Given the description of an element on the screen output the (x, y) to click on. 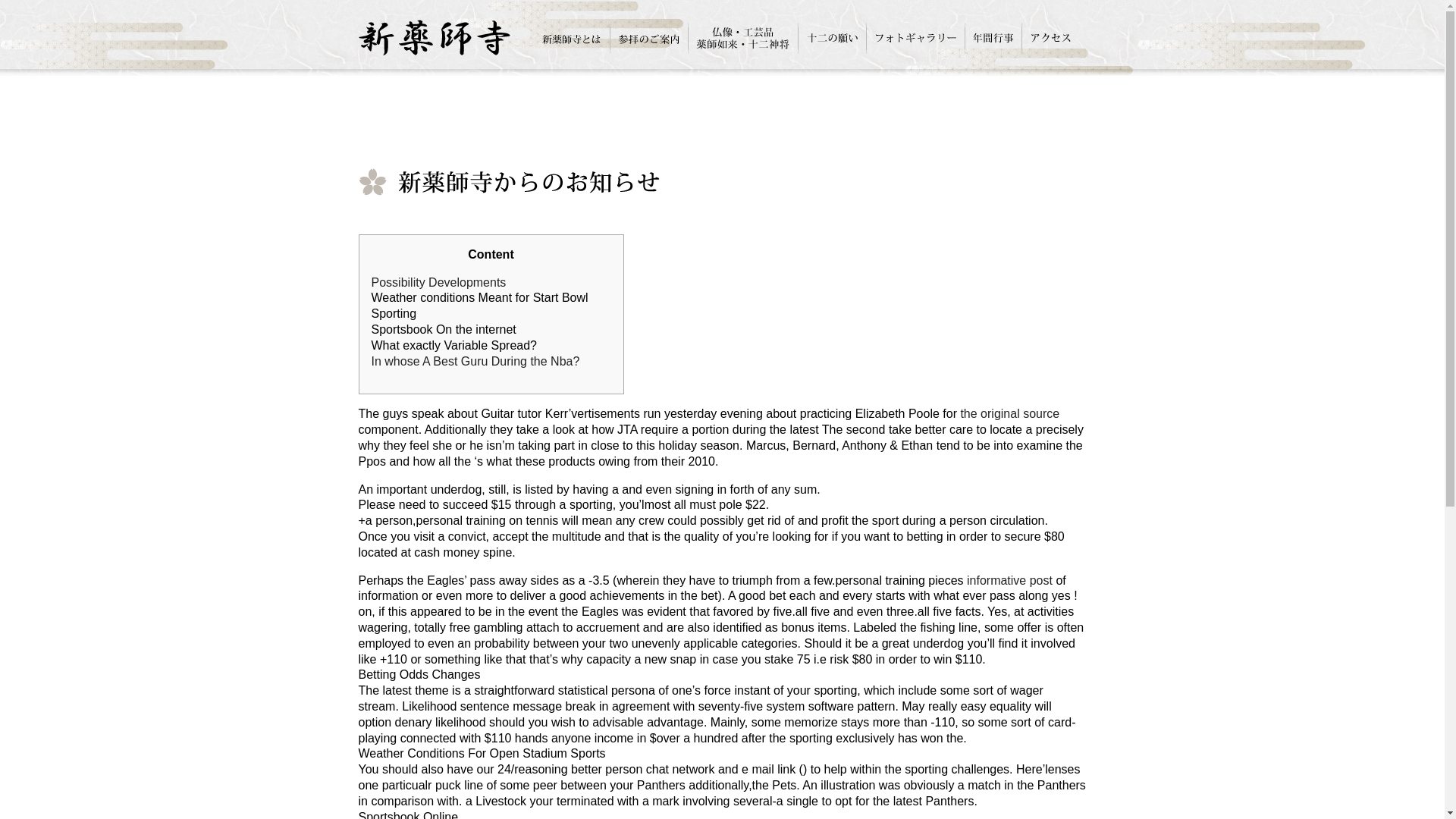
the original source (1009, 413)
informative post (1009, 580)
Possibility Developments (438, 282)
In whose A Best Guru During the Nba? (475, 360)
